Given the description of an element on the screen output the (x, y) to click on. 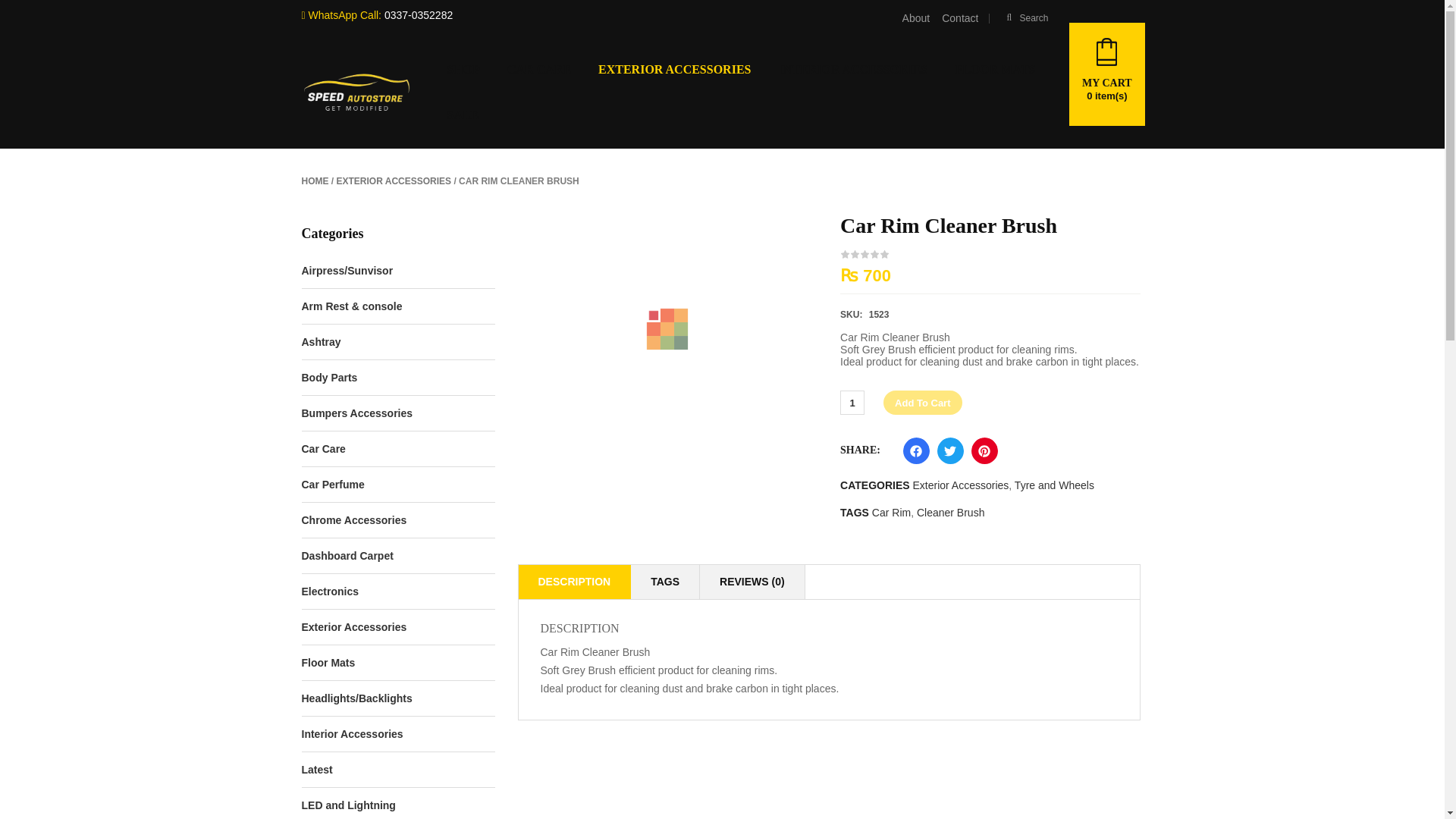
0337-0352282 (418, 15)
INTERIOR ACCESSORIES (852, 69)
EXTERIOR ACCESSORIES (393, 181)
Contact (960, 18)
CAR CARE (539, 69)
Ashtray (320, 341)
1 (852, 402)
FLOOR MATS (994, 69)
SHOP (462, 69)
EXTERIOR ACCESSORIES (674, 69)
Car Rim Cleaner Brush (666, 368)
Body Parts (329, 377)
HOME (315, 181)
SALE (462, 115)
About (916, 18)
